Given the description of an element on the screen output the (x, y) to click on. 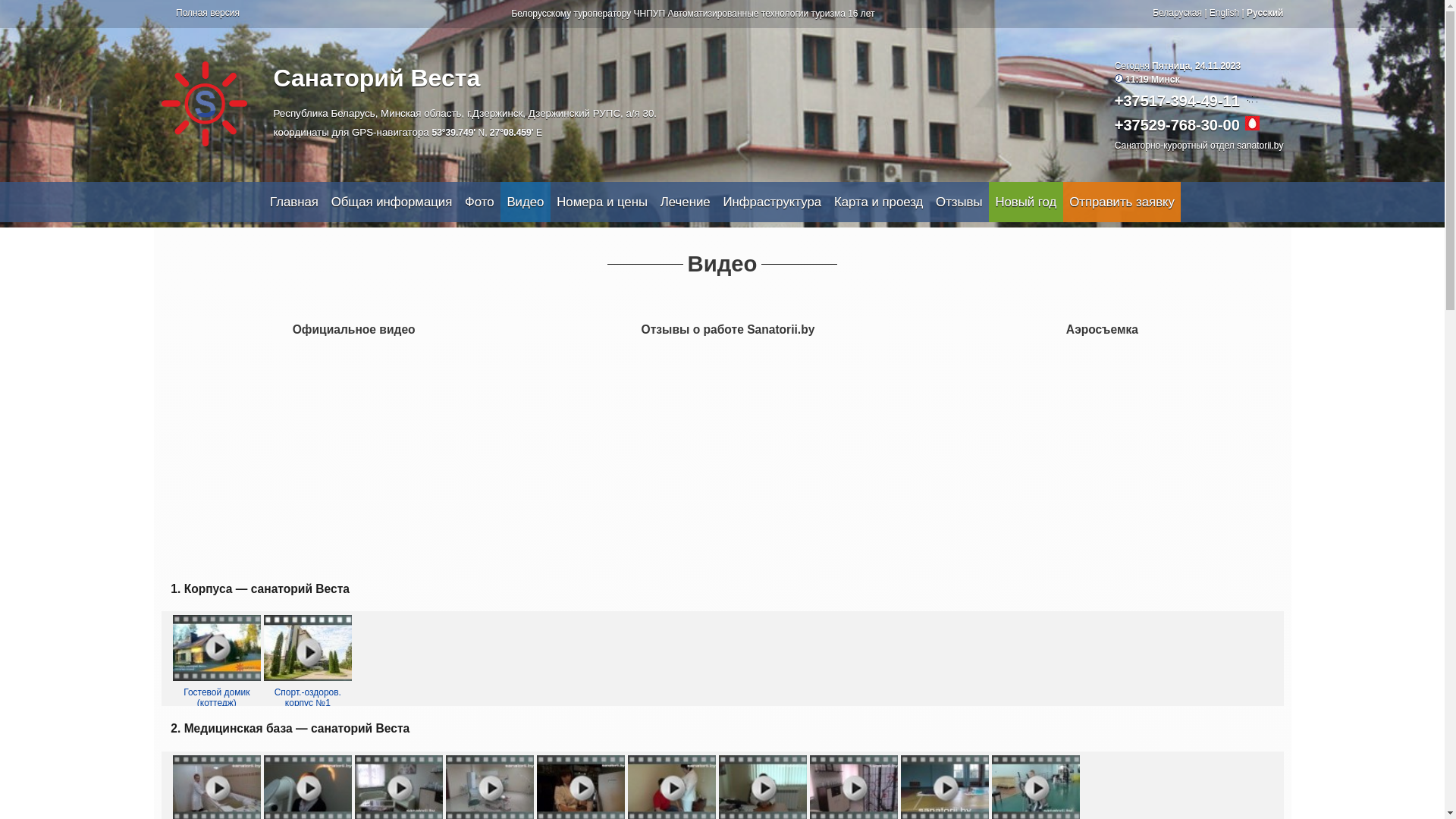
+37517-394-49-11 Element type: text (1176, 100)
English Element type: text (1224, 12)
+37529-768-30-00 Element type: text (1176, 124)
